Given the description of an element on the screen output the (x, y) to click on. 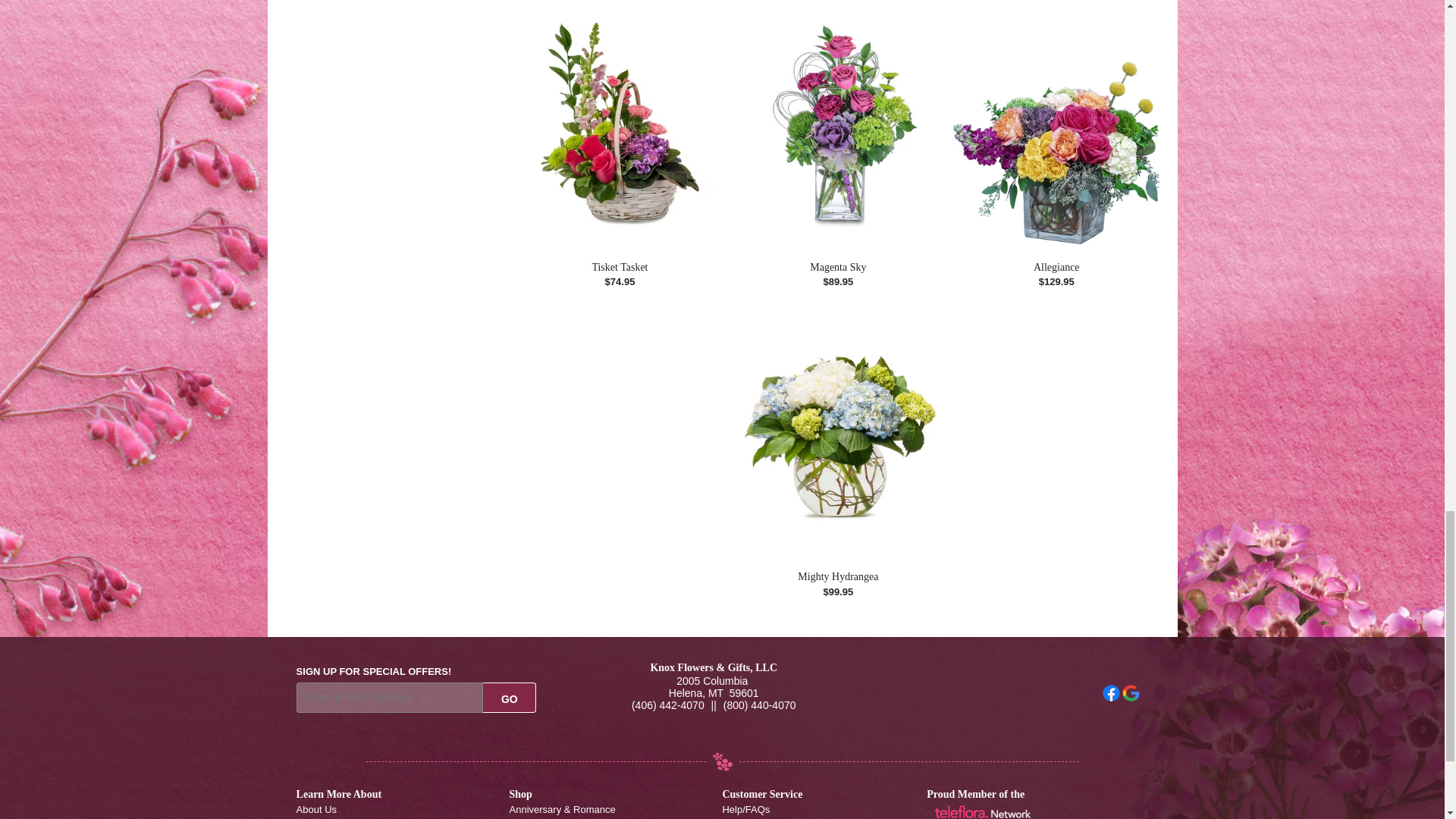
Email Sign up (390, 697)
go (509, 697)
Go (509, 697)
